Given the description of an element on the screen output the (x, y) to click on. 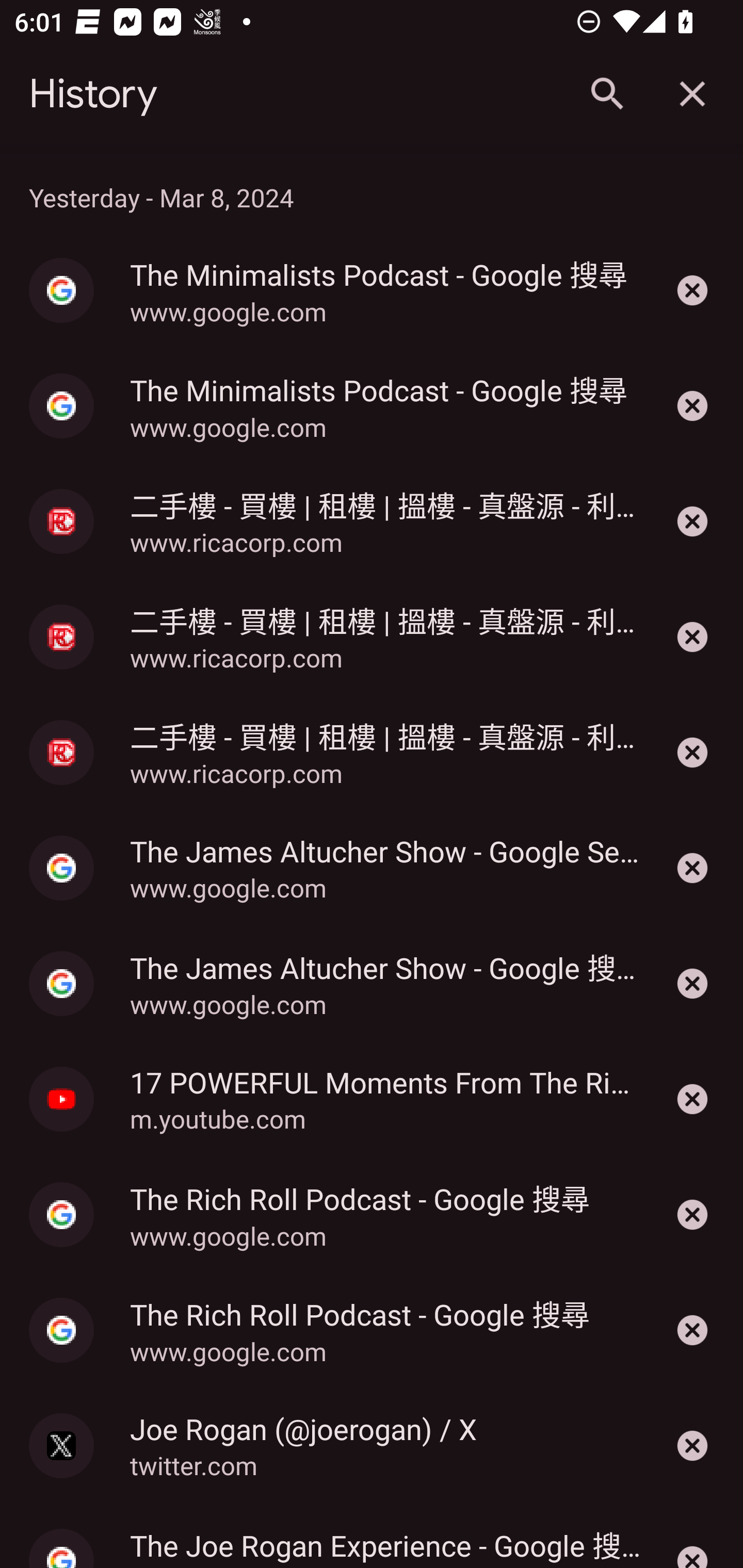
Search (605, 93)
Close (692, 93)
The Minimalists Podcast - Google 搜尋 Remove (692, 290)
The Minimalists Podcast - Google 搜尋 Remove (692, 406)
二手樓 - 買樓 | 租樓 | 搵樓 - 真盤源 - 利嘉閣地產有限公司 Remove (692, 521)
二手樓 - 買樓 | 租樓 | 搵樓 - 真盤源 - 利嘉閣地產有限公司 Remove (692, 636)
二手樓 - 買樓 | 租樓 | 搵樓 - 真盤源 - 利嘉閣地產有限公司 Remove (692, 752)
The James Altucher Show - Google Search Remove (692, 867)
The James Altucher Show - Google 搜尋 Remove (692, 983)
The Rich Roll Podcast - Google 搜尋 Remove (692, 1215)
The Rich Roll Podcast - Google 搜尋 Remove (692, 1330)
Joe Rogan (@joerogan) / X Remove (692, 1445)
The Joe Rogan Experience - Google 搜尋 Remove (692, 1535)
